Given the description of an element on the screen output the (x, y) to click on. 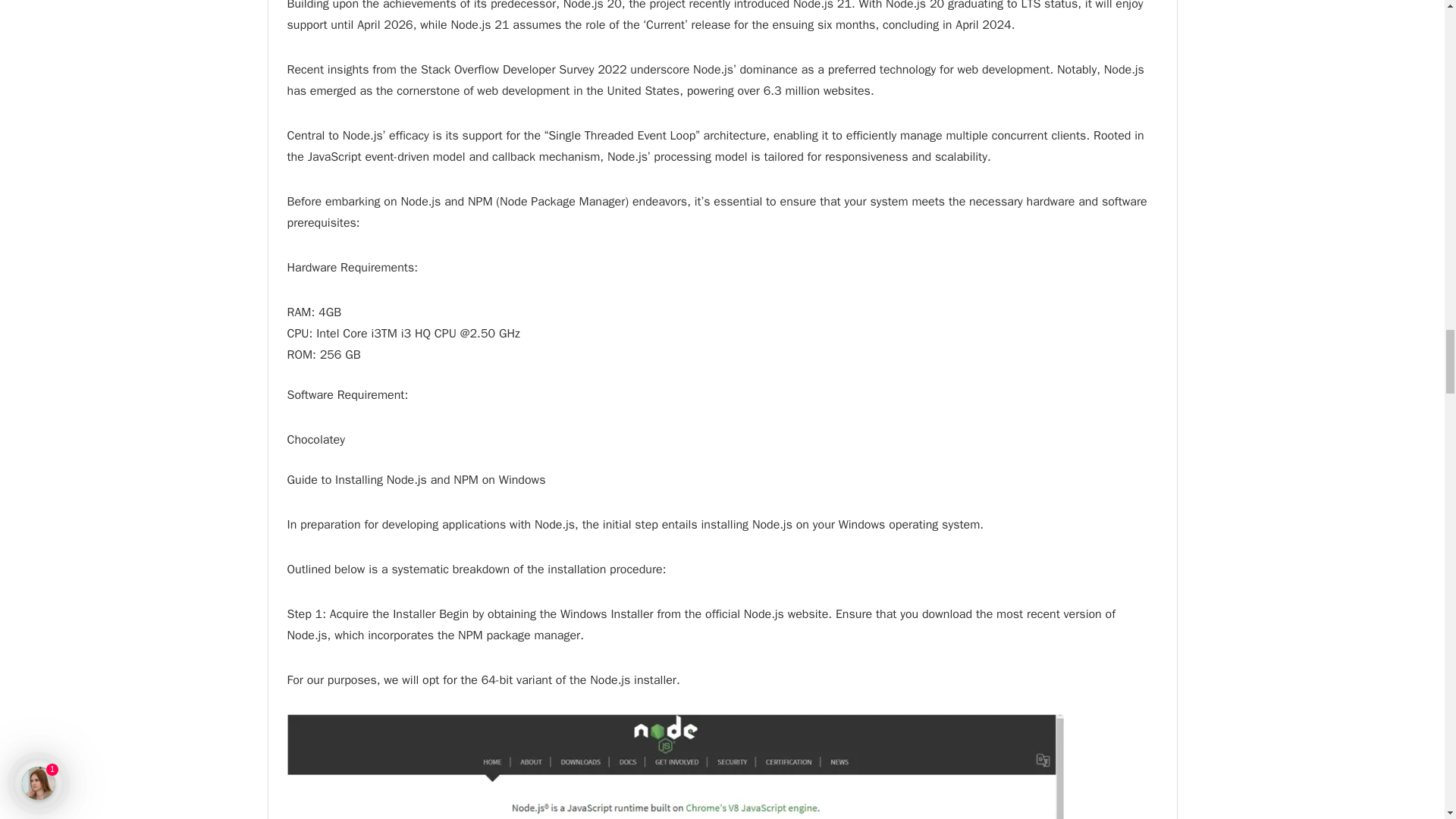
How to Install Node.js and NPM on Windows? 3 (674, 766)
